Given the description of an element on the screen output the (x, y) to click on. 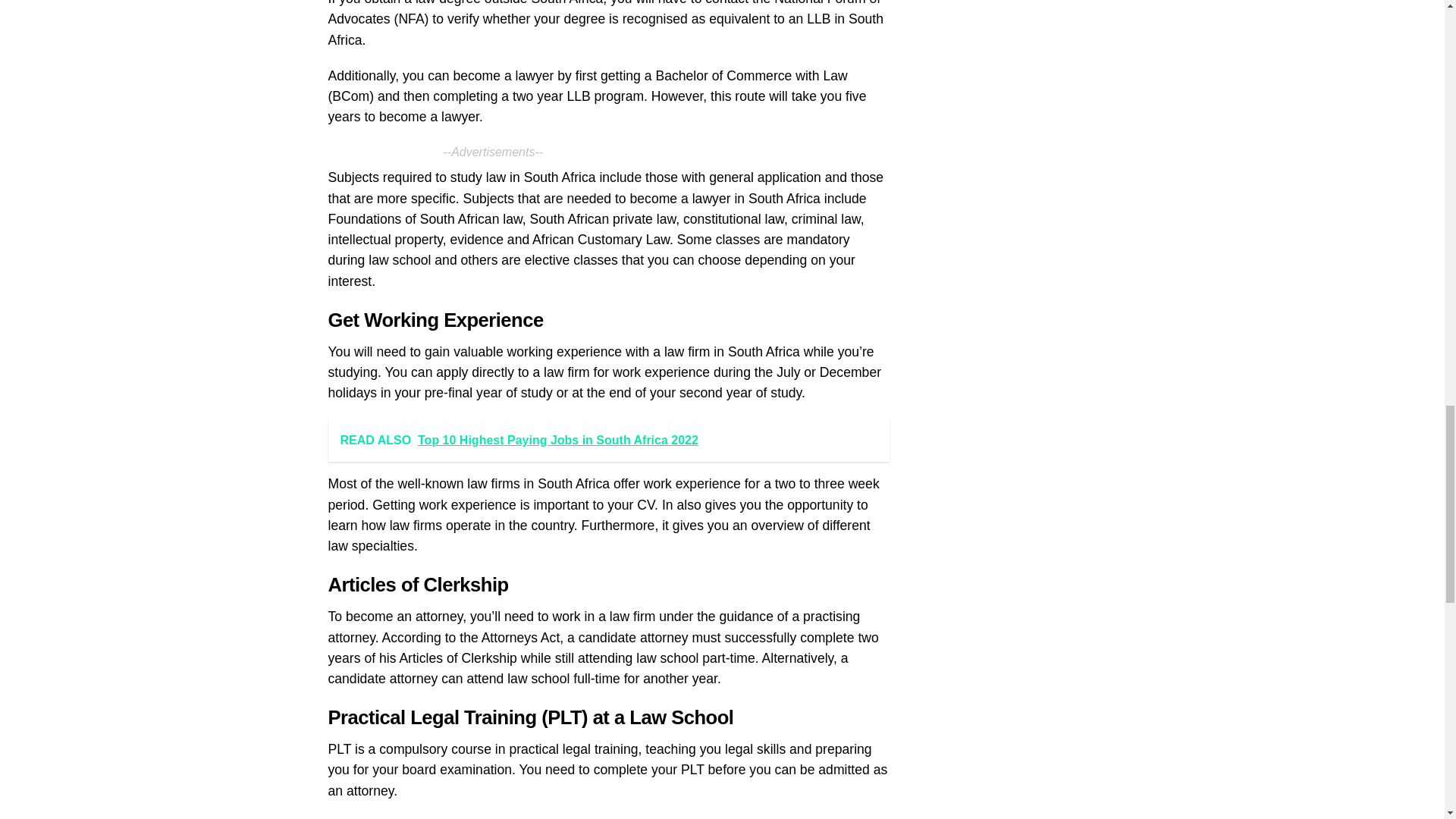
READ ALSO  Top 10 Highest Paying Jobs in South Africa 2022 (607, 440)
